Given the description of an element on the screen output the (x, y) to click on. 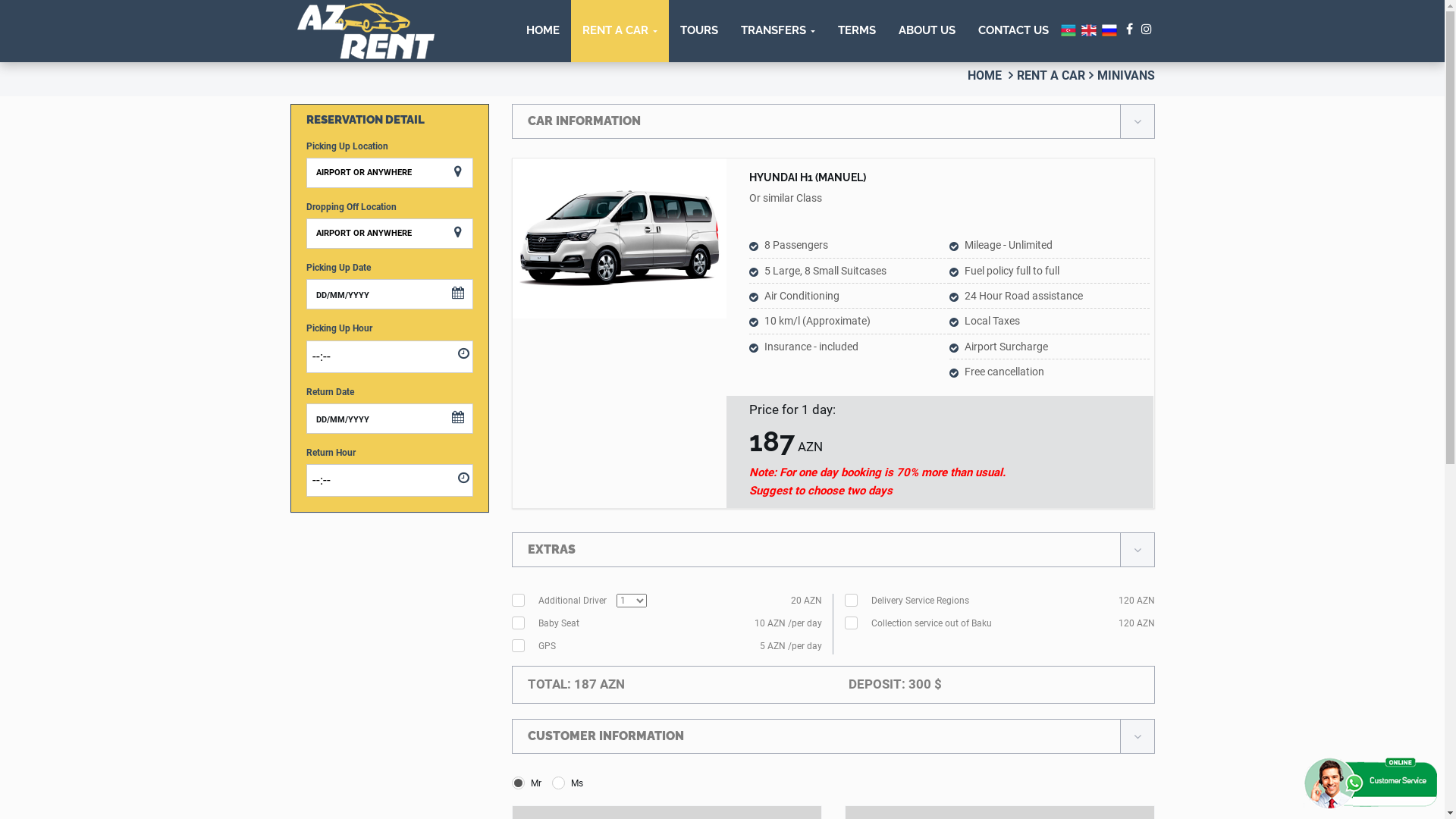
HOME Element type: text (542, 31)
TOURS Element type: text (698, 31)
RENT A CAR Element type: text (619, 31)
TERMS Element type: text (856, 31)
AIRPORT OR ANYWHERE
  Element type: text (389, 233)
ABOUT US Element type: text (926, 31)
HOME Element type: text (984, 75)
AIRPORT OR ANYWHERE
  Element type: text (389, 172)
TRANSFERS Element type: text (777, 31)
CONTACT US Element type: text (1012, 31)
